Given the description of an element on the screen output the (x, y) to click on. 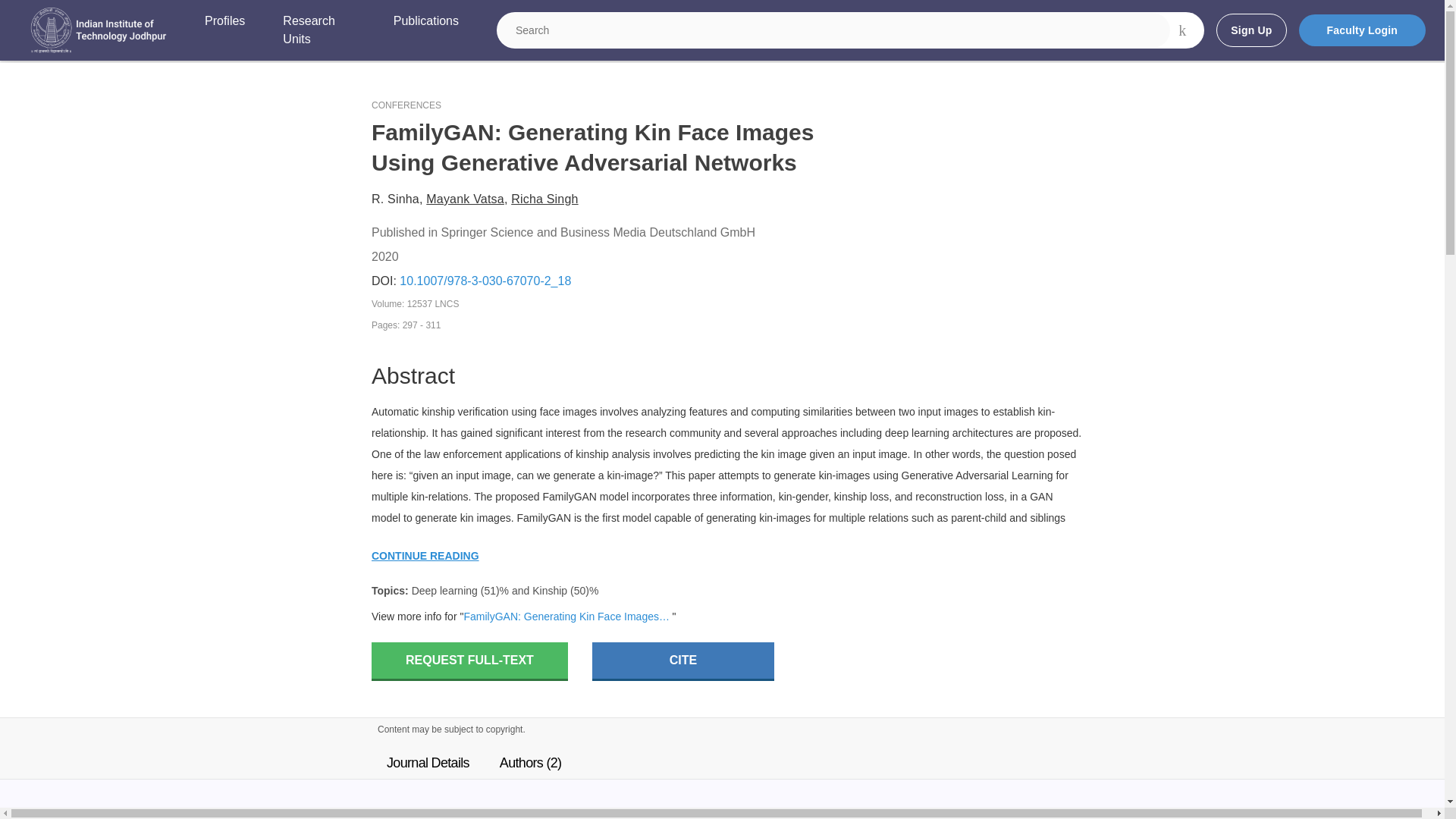
Sign Up (1250, 29)
Faculty Login (1361, 29)
Publications (425, 30)
Profiles (224, 30)
Research Units (318, 30)
Journal Details (427, 762)
REQUEST FULL-TEXT (469, 661)
Deep learning (444, 590)
Kinship (549, 590)
Richa Singh (544, 198)
Mayank Vatsa (464, 198)
CITE (683, 661)
Institution logo (98, 30)
